Given the description of an element on the screen output the (x, y) to click on. 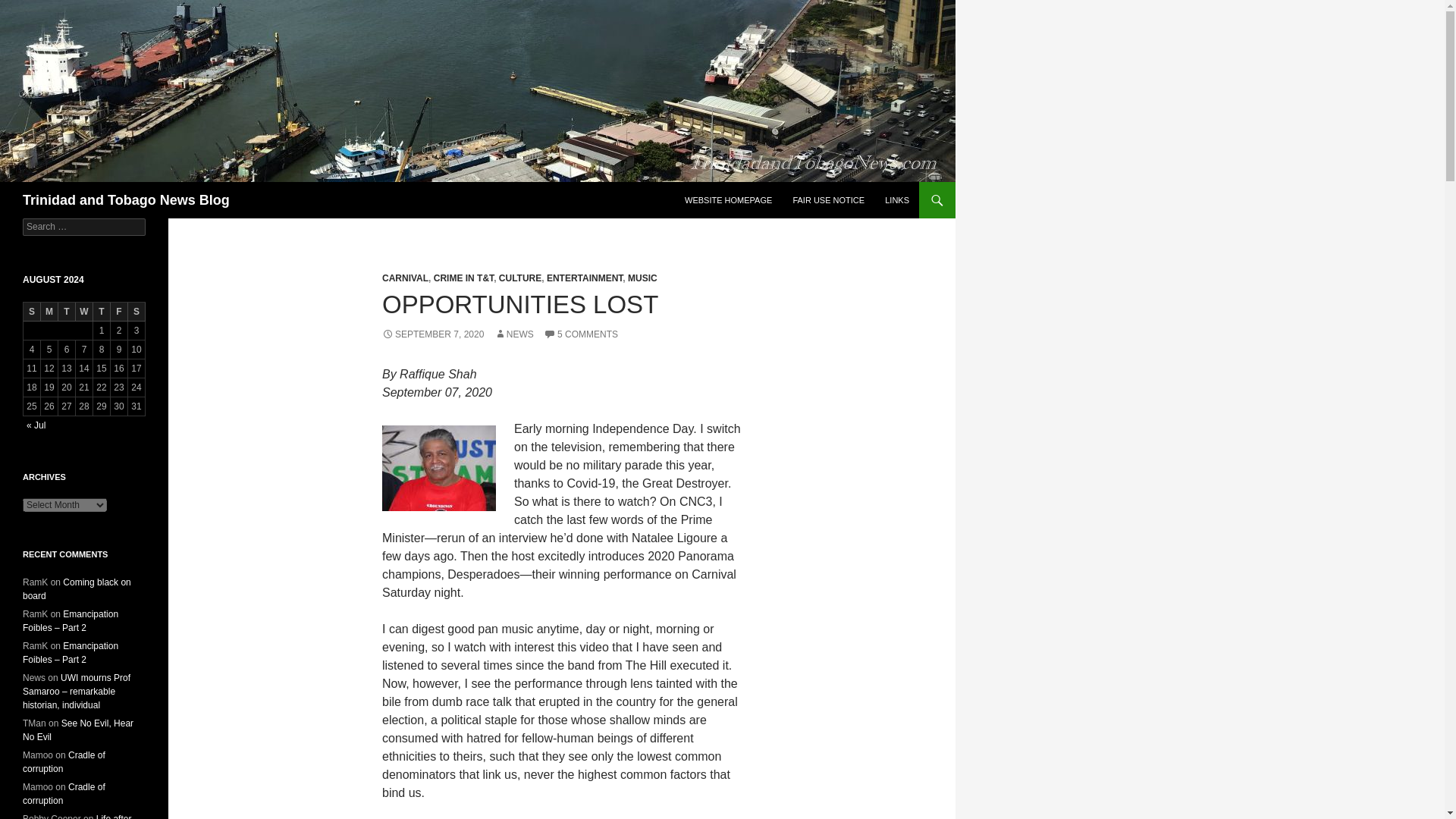
SEPTEMBER 7, 2020 (432, 334)
WEBSITE HOMEPAGE (727, 199)
5 COMMENTS (580, 334)
ENTERTAINMENT (585, 277)
LINKS (897, 199)
Trinidad and Tobago News Blog (126, 199)
Coming black on board (77, 589)
CARNIVAL (404, 277)
MUSIC (642, 277)
Saturday (136, 311)
Search (30, 8)
Monday (49, 311)
FAIR USE NOTICE (828, 199)
